Given the description of an element on the screen output the (x, y) to click on. 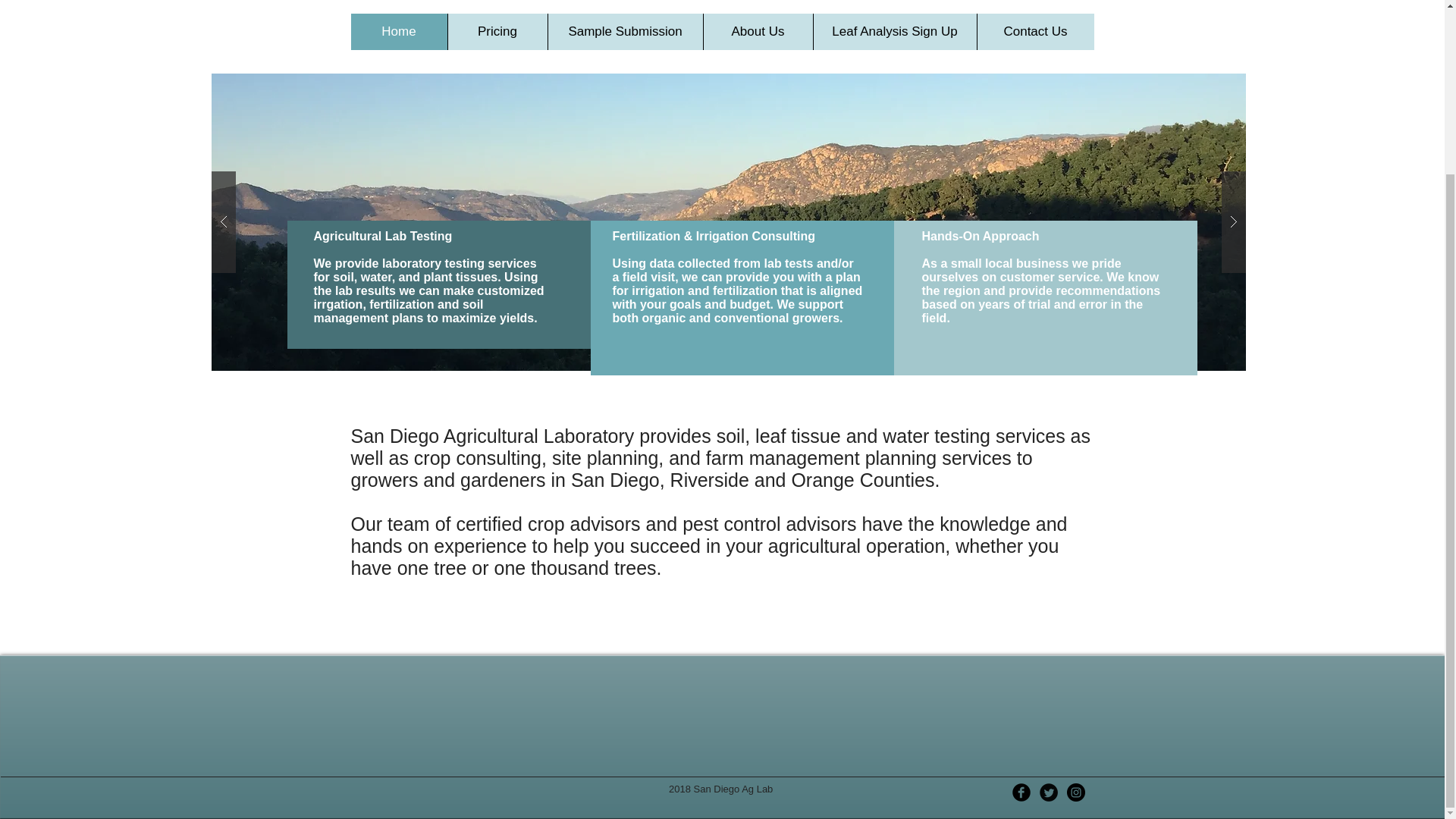
Sample Submission (625, 31)
Home (398, 31)
About Us (756, 31)
Leaf Analysis Sign Up (894, 31)
Pricing (496, 31)
Contact Us (1035, 31)
